Given the description of an element on the screen output the (x, y) to click on. 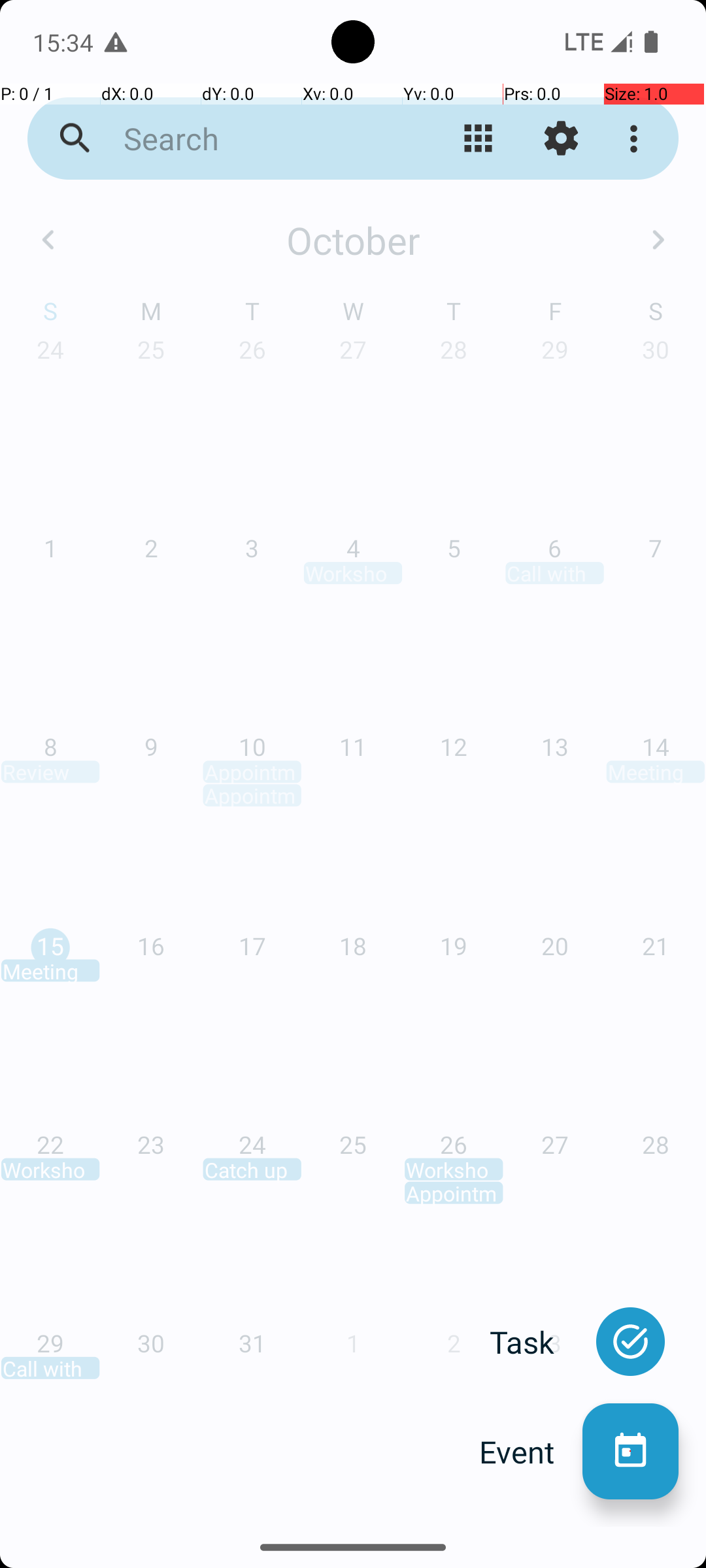
Task Element type: android.widget.TextView (535, 1341)
Event Element type: android.widget.TextView (530, 1451)
